Given the description of an element on the screen output the (x, y) to click on. 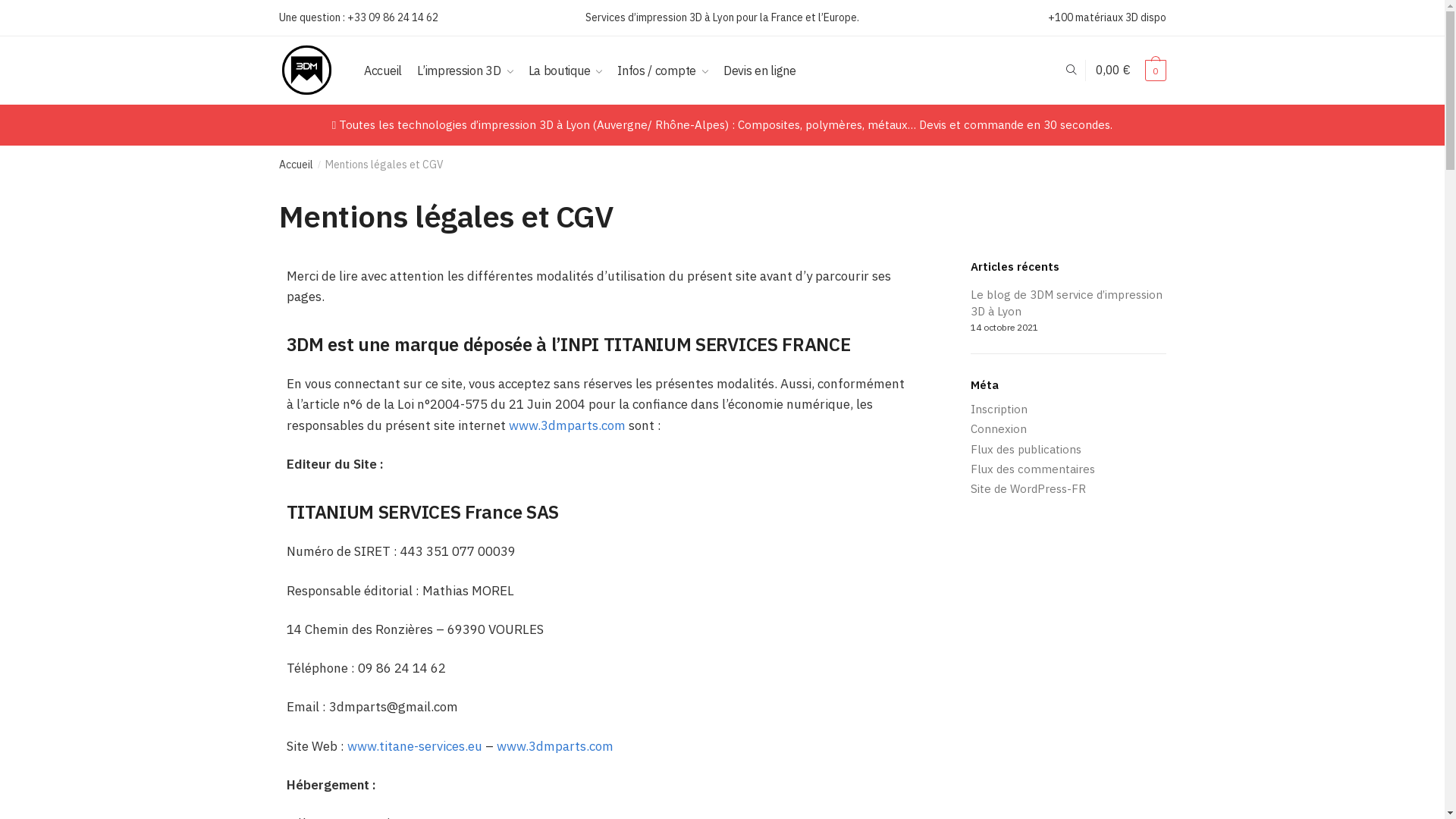
Flux des publications Element type: text (1025, 449)
www.3dmparts.com Element type: text (566, 425)
Inscription Element type: text (998, 408)
www.3dmparts.com Element type: text (553, 745)
Accueil Element type: text (296, 164)
www.titane-services.eu Element type: text (414, 745)
Devis en ligne Element type: text (759, 70)
Infos / compte Element type: text (662, 70)
Flux des commentaires Element type: text (1032, 468)
Accueil Element type: text (382, 70)
Recherche Element type: text (486, 47)
Connexion Element type: text (998, 428)
La boutique Element type: text (564, 70)
Site de WordPress-FR Element type: text (1027, 488)
